Given the description of an element on the screen output the (x, y) to click on. 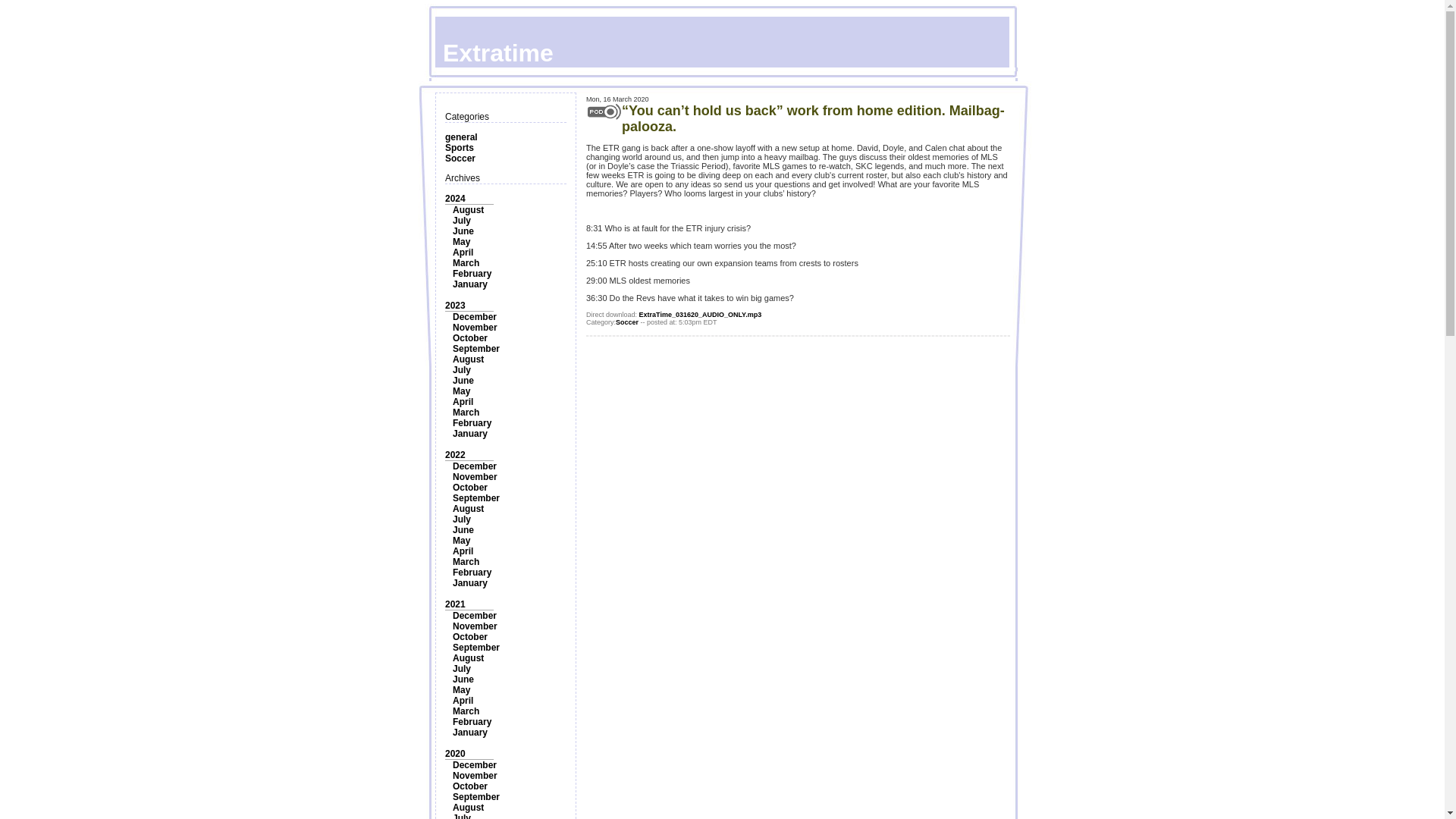
Sports (459, 147)
general (461, 136)
May (461, 241)
Soccer (460, 158)
October (469, 337)
November (474, 476)
October (469, 487)
June (463, 380)
May (461, 540)
September (475, 498)
